Given the description of an element on the screen output the (x, y) to click on. 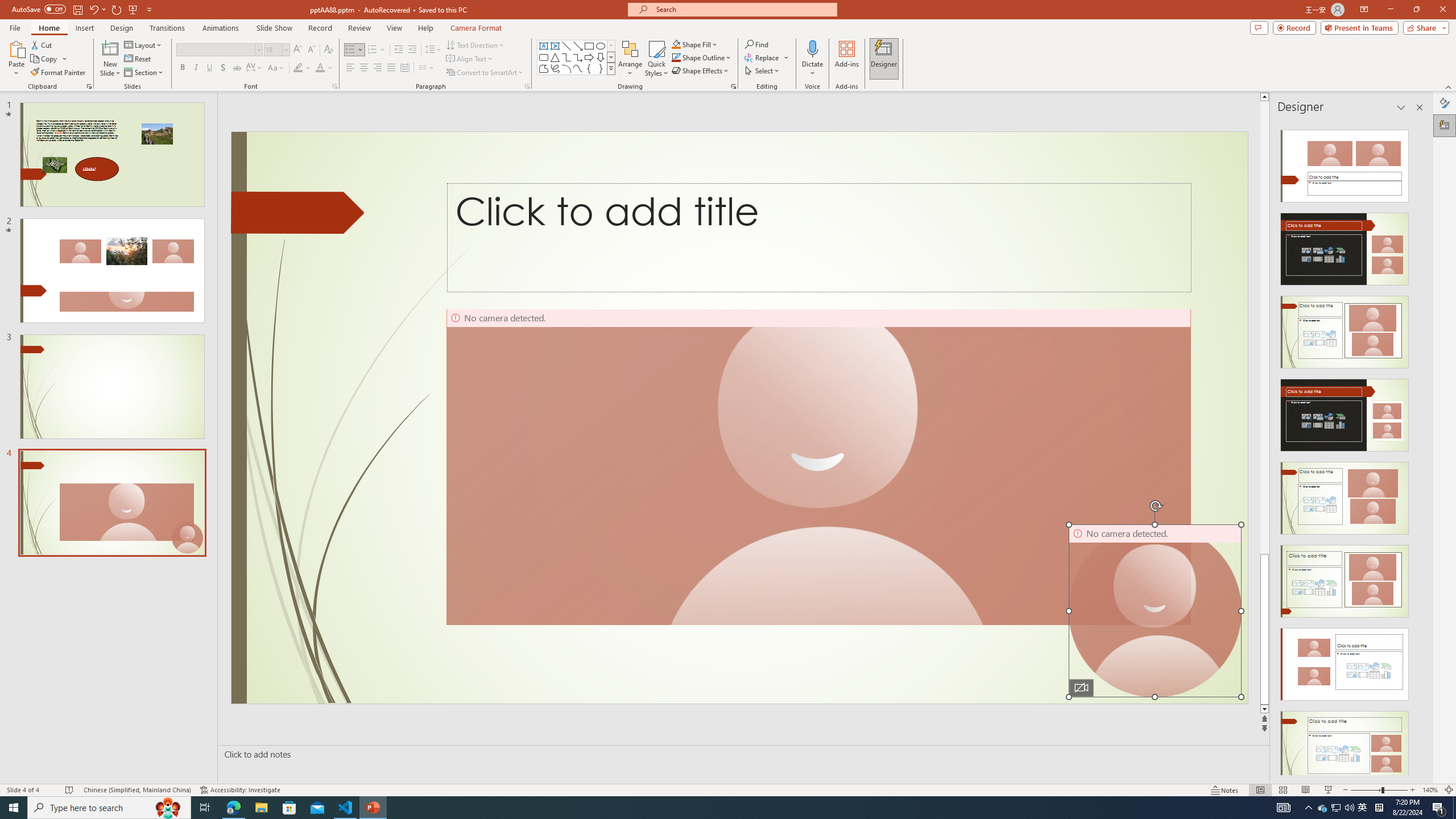
Dictate (812, 58)
Text Direction (476, 44)
Line up (1264, 96)
Strikethrough (237, 67)
Redo (117, 9)
Character Spacing (254, 67)
Designer (883, 58)
Align Right (377, 67)
Bold (182, 67)
Font Size (276, 49)
Transitions (167, 28)
Font (219, 49)
Align Text (470, 58)
Line Arrow (577, 45)
Justify (390, 67)
